Given the description of an element on the screen output the (x, y) to click on. 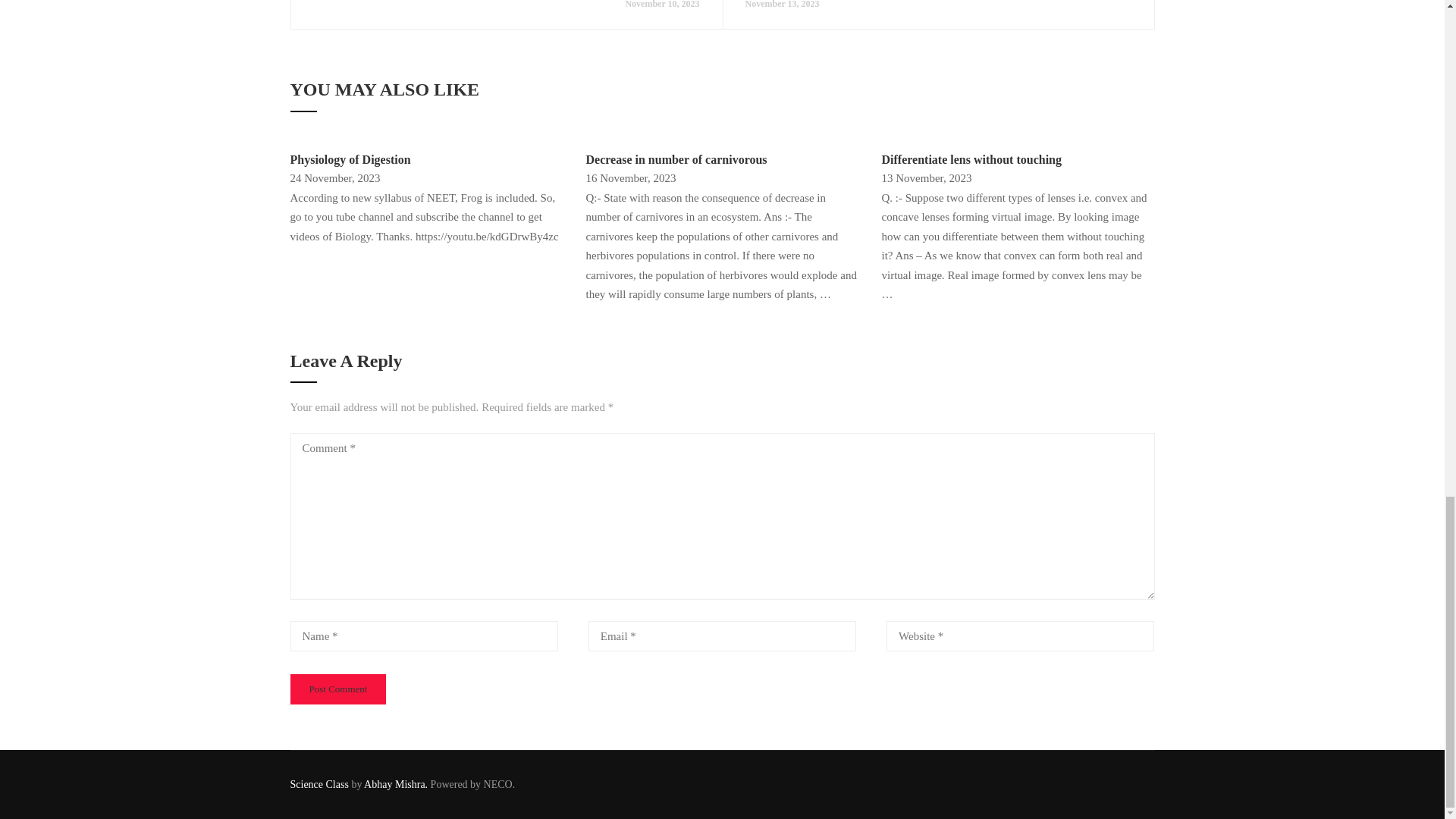
Decrease in number of carnivorous (676, 159)
Science Class (319, 784)
Post Comment (337, 689)
Post Comment (337, 689)
Physiology of Digestion (349, 159)
Differentiate lens without touching (970, 159)
Abhay Mishra. (396, 784)
